Given the description of an element on the screen output the (x, y) to click on. 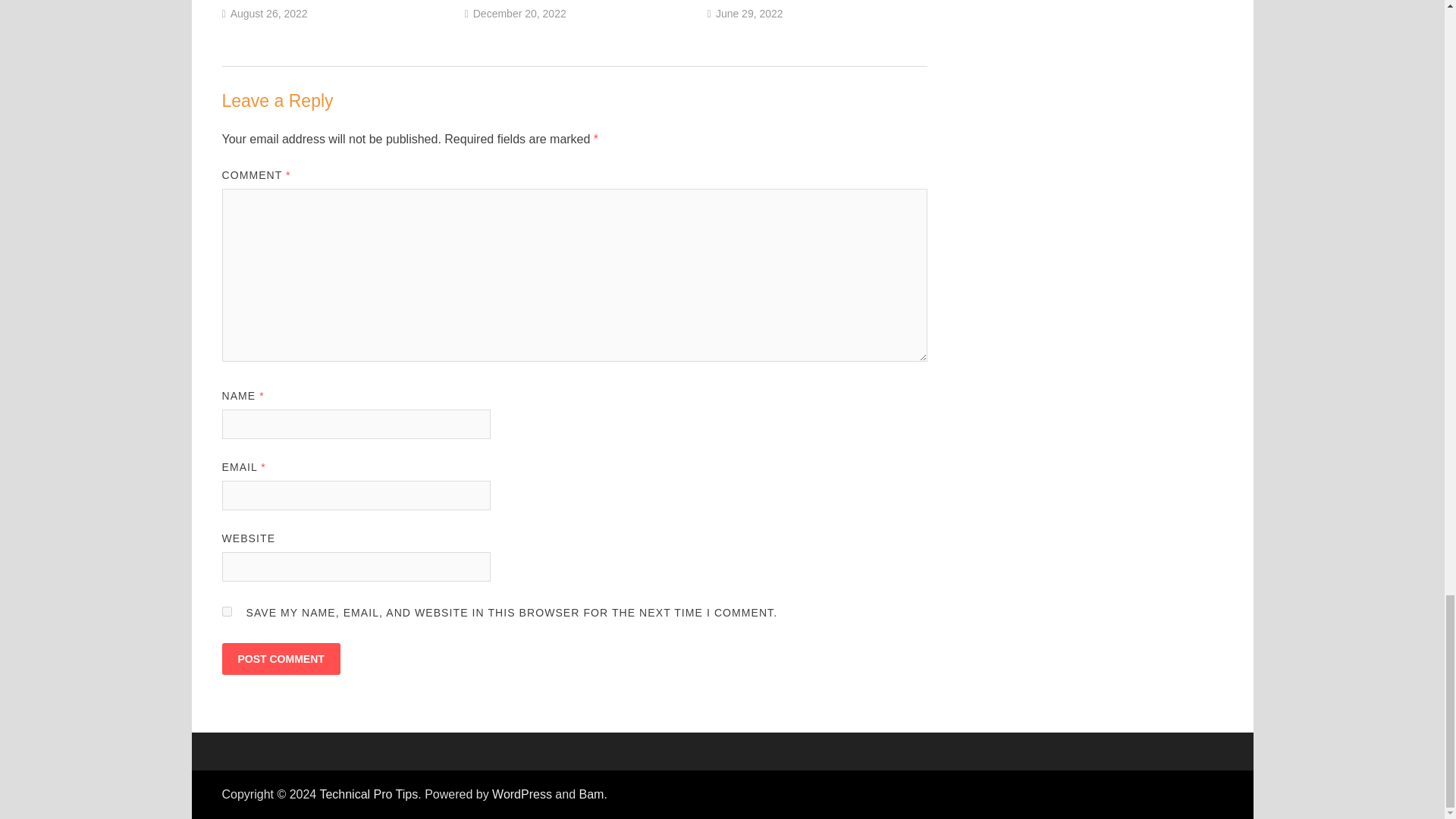
Post Comment (280, 658)
Technical Pro Tips (367, 793)
yes (226, 611)
August 26, 2022 (268, 13)
